Given the description of an element on the screen output the (x, y) to click on. 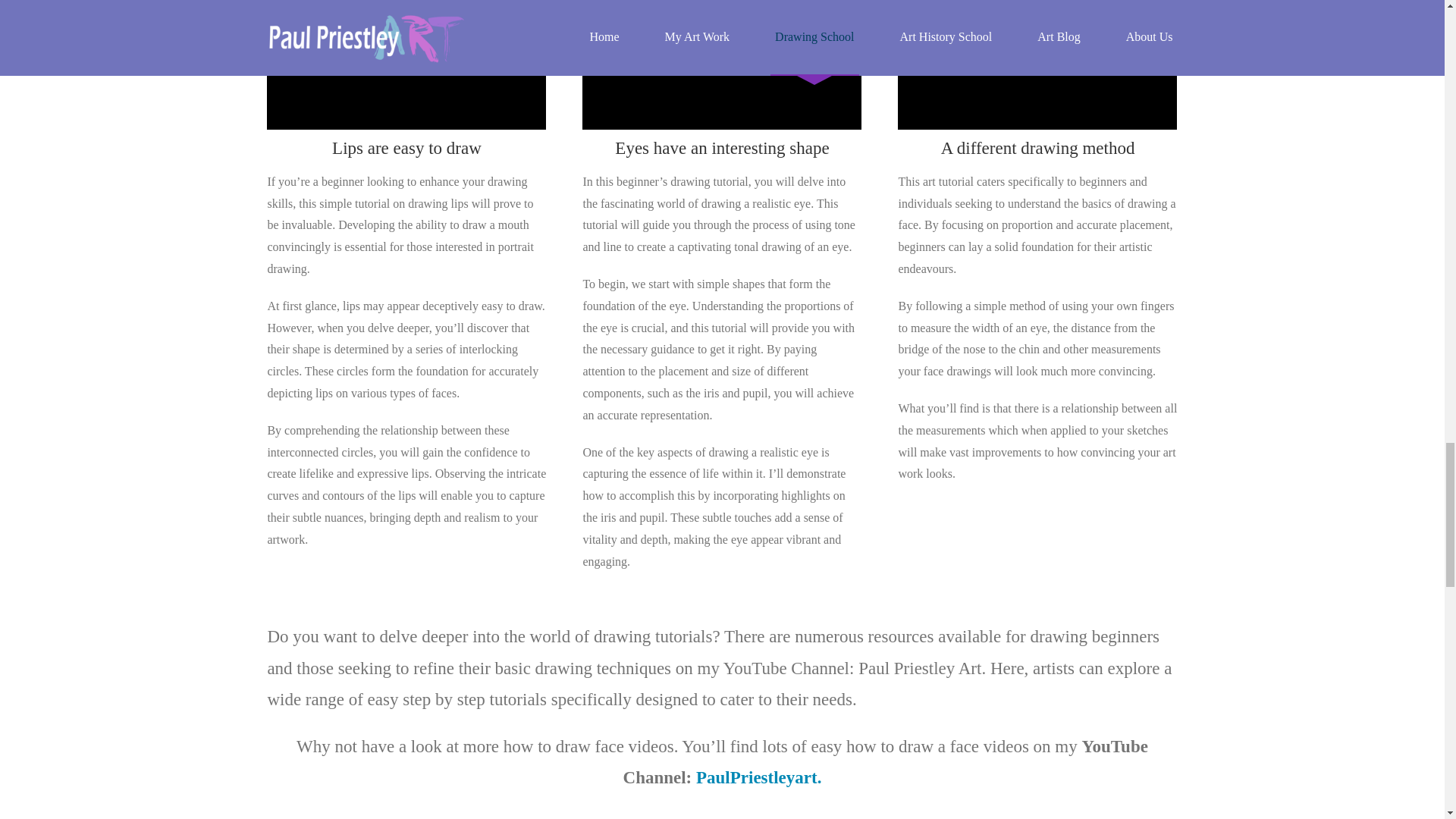
YouTube video player 5 (721, 64)
How to Draw Lips (406, 64)
YouTube video player 6 (1037, 64)
